Given the description of an element on the screen output the (x, y) to click on. 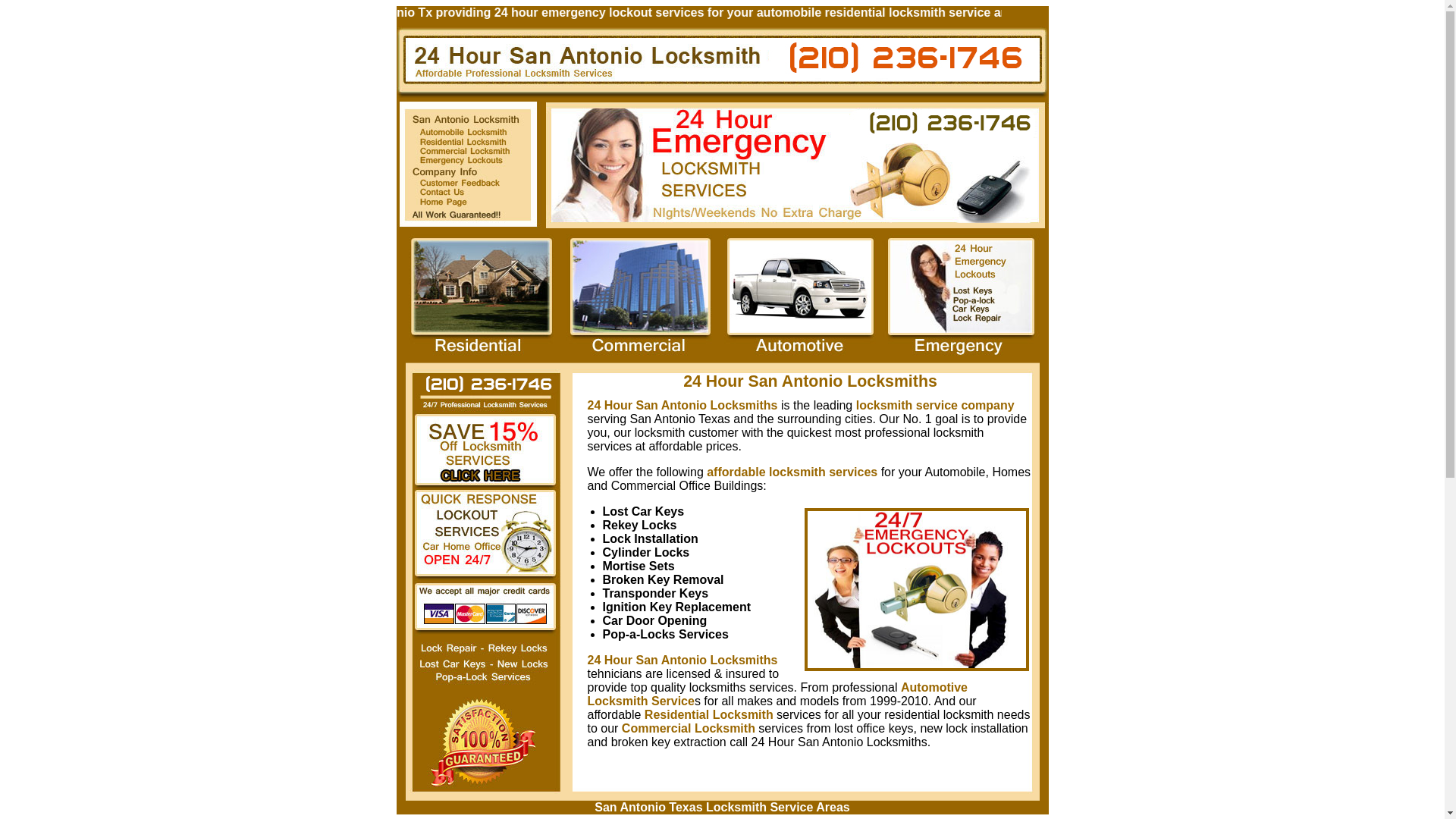
24 Hour San Antonio Locksmiths Element type: text (681, 659)
locksmith service company Element type: text (935, 404)
Automotive Locksmith Service Element type: text (776, 693)
Residential Locksmith Element type: text (708, 714)
affordable locksmith services Element type: text (791, 471)
Commercial Locksmith Element type: text (688, 727)
24 Hour San Antonio Locksmiths Element type: text (681, 404)
